Given the description of an element on the screen output the (x, y) to click on. 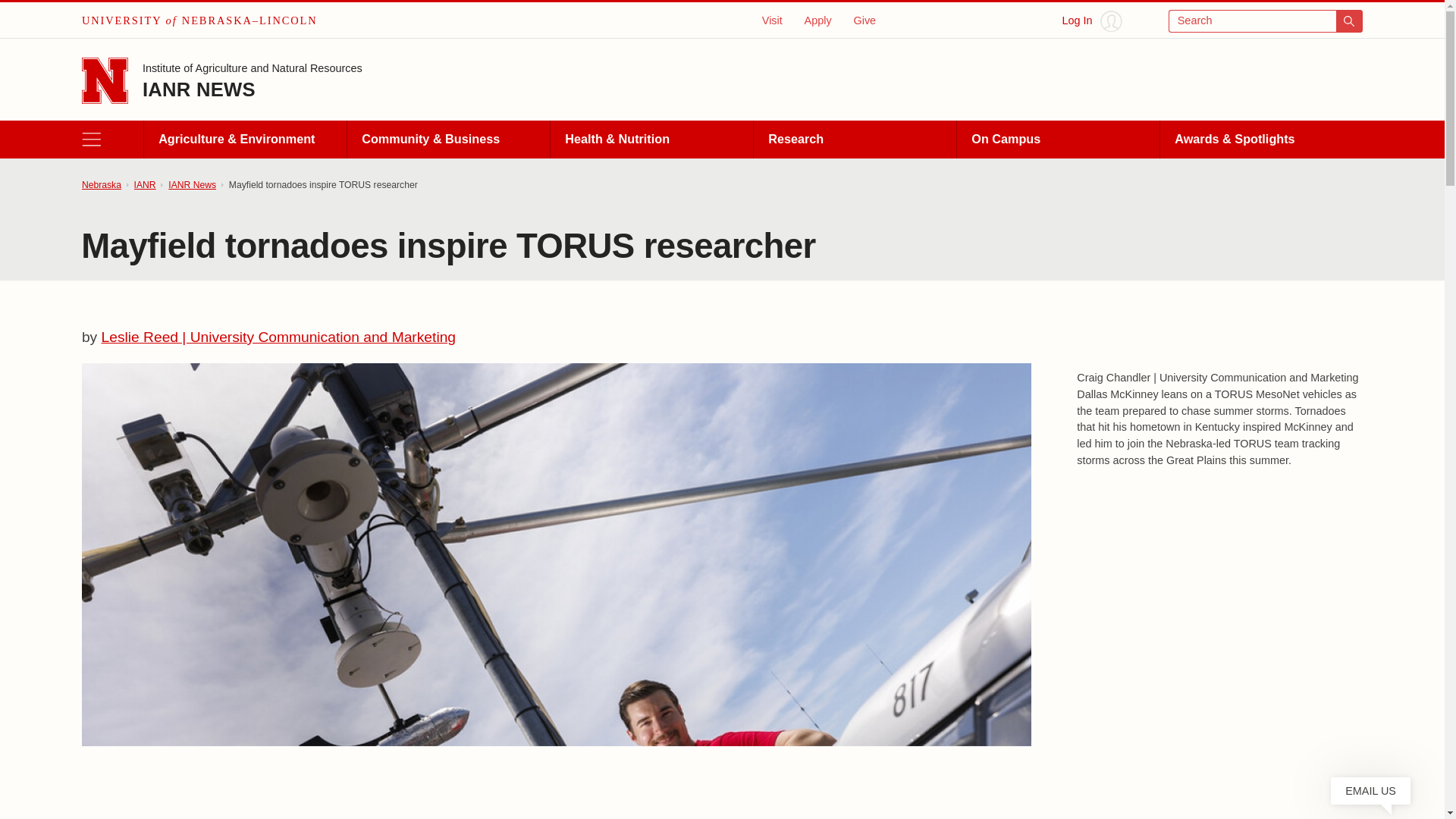
On Campus (1057, 139)
Visit (772, 20)
Institute of Agriculture and Natural Resources (252, 69)
IANR News (191, 184)
IANR NEWS (199, 88)
Search (1265, 20)
Give (864, 20)
Log In (1092, 21)
Skip to main content (19, 16)
Apply (818, 20)
